Given the description of an element on the screen output the (x, y) to click on. 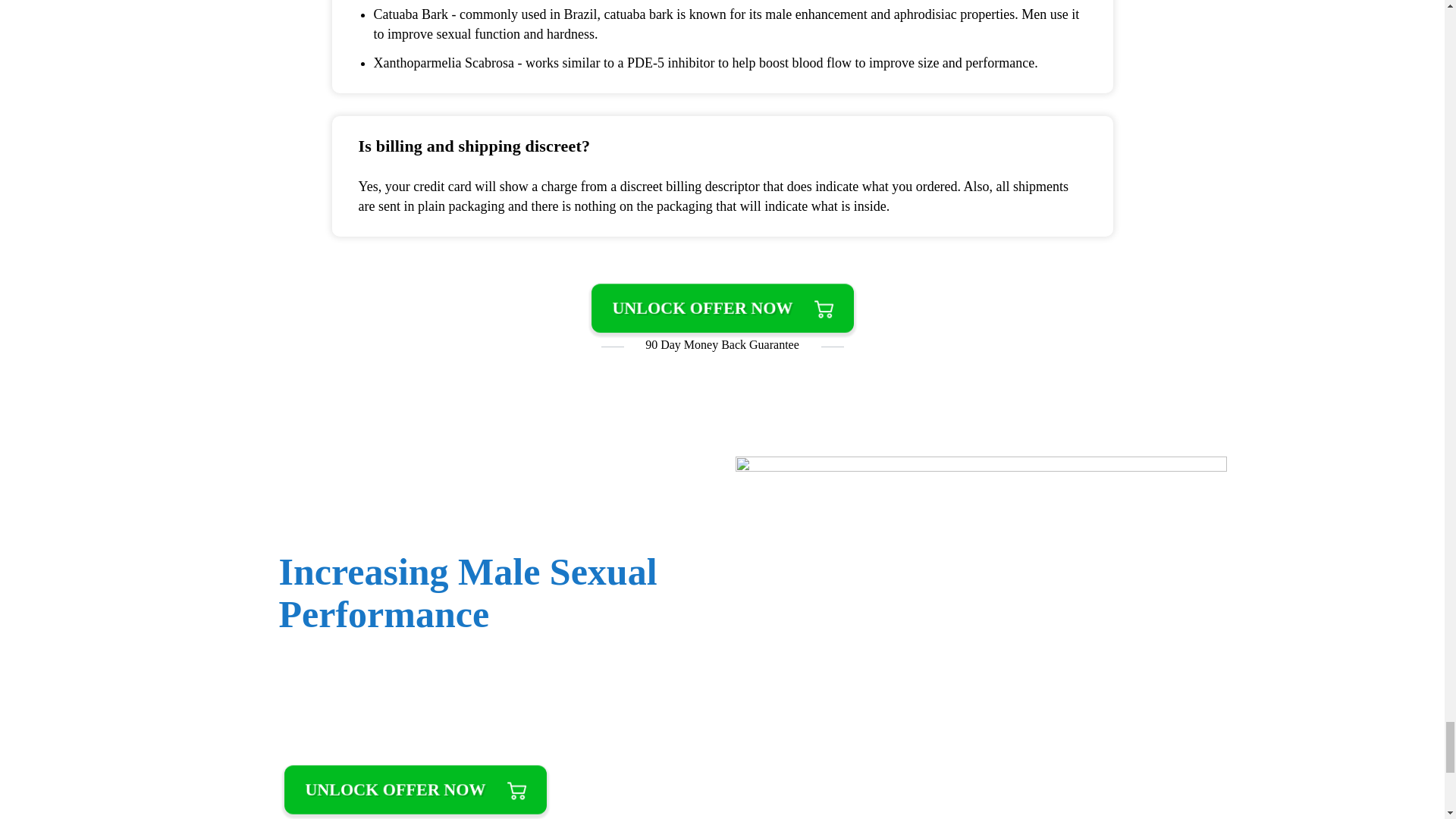
UNLOCK OFFER NOW (722, 307)
UNLOCK OFFER NOW (415, 789)
